Given the description of an element on the screen output the (x, y) to click on. 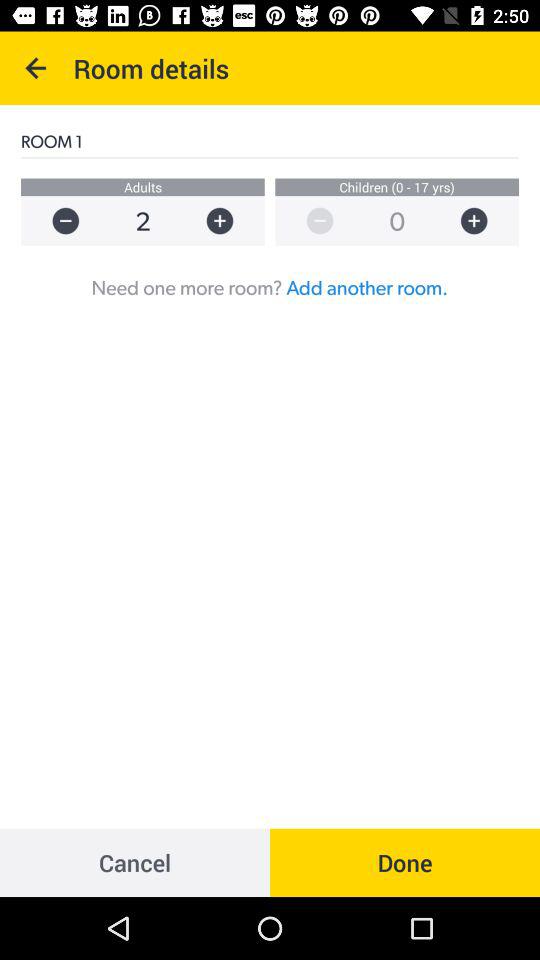
increase the number of adults (229, 220)
